Given the description of an element on the screen output the (x, y) to click on. 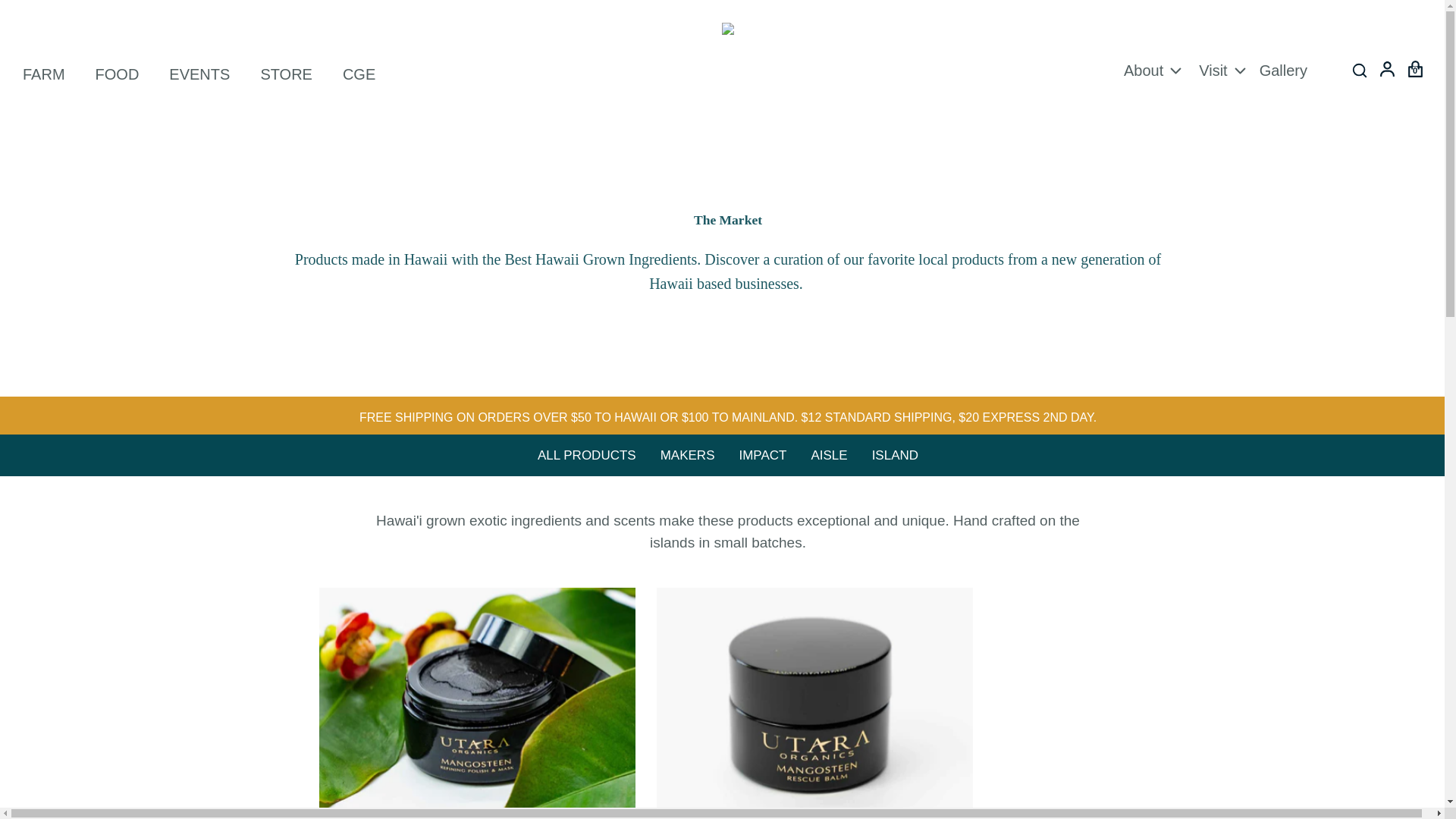
FARM (44, 76)
Visit (1212, 72)
About (1143, 72)
FOOD (117, 76)
0 (1414, 64)
EVENTS (199, 76)
ALL PRODUCTS (586, 454)
Gallery (1283, 72)
STORE (286, 76)
CGE (358, 76)
